Given the description of an element on the screen output the (x, y) to click on. 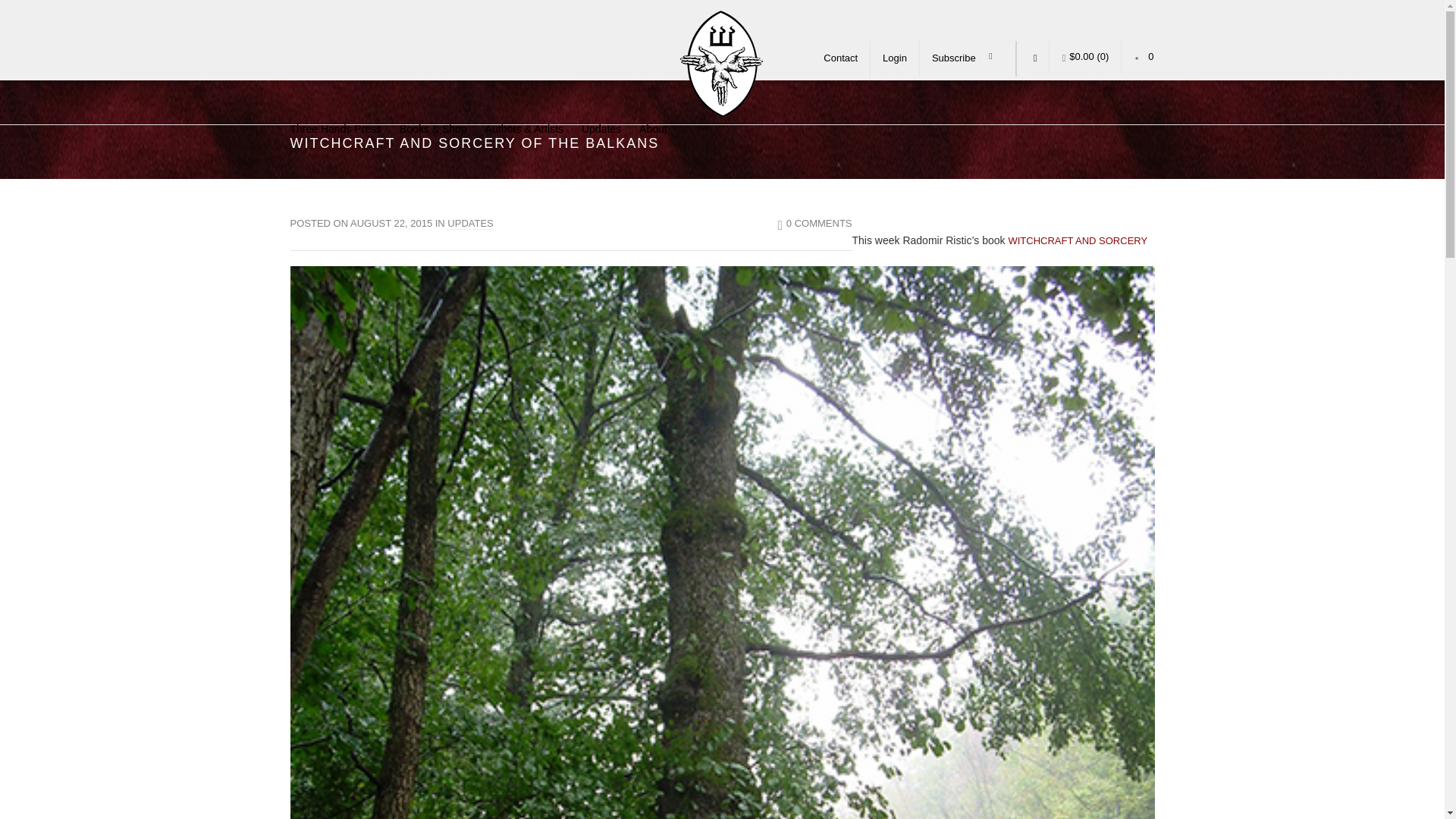
View your shopping cart (1085, 56)
